Given the description of an element on the screen output the (x, y) to click on. 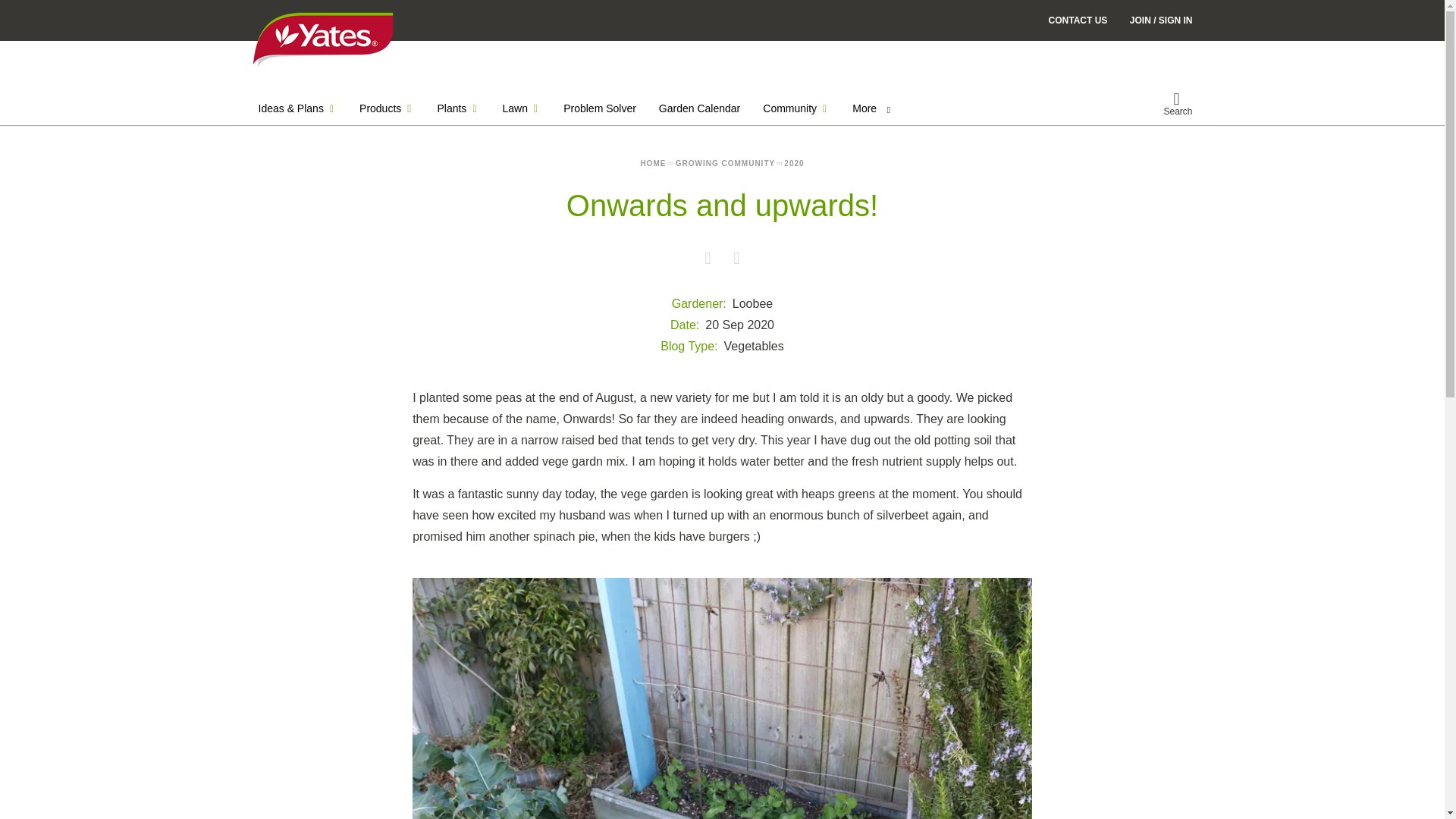
Community (796, 108)
Plants (457, 108)
Garden Calendar (698, 108)
More (870, 108)
Products (386, 108)
Yates (322, 39)
Lawn (521, 108)
Problem Solver (599, 108)
CONTACT US (1078, 20)
